Given the description of an element on the screen output the (x, y) to click on. 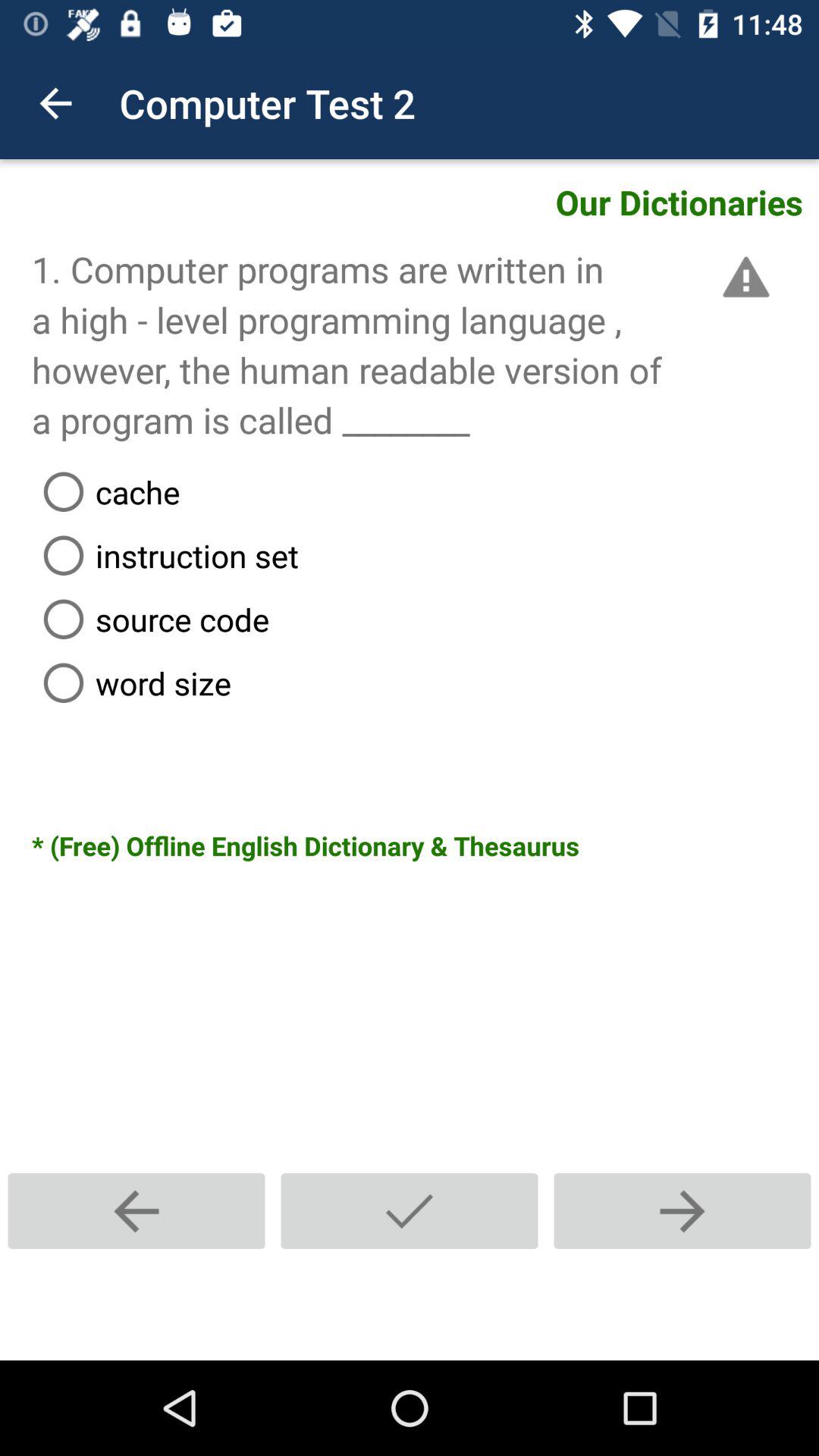
open item to the left of the computer test 2 (55, 103)
